Given the description of an element on the screen output the (x, y) to click on. 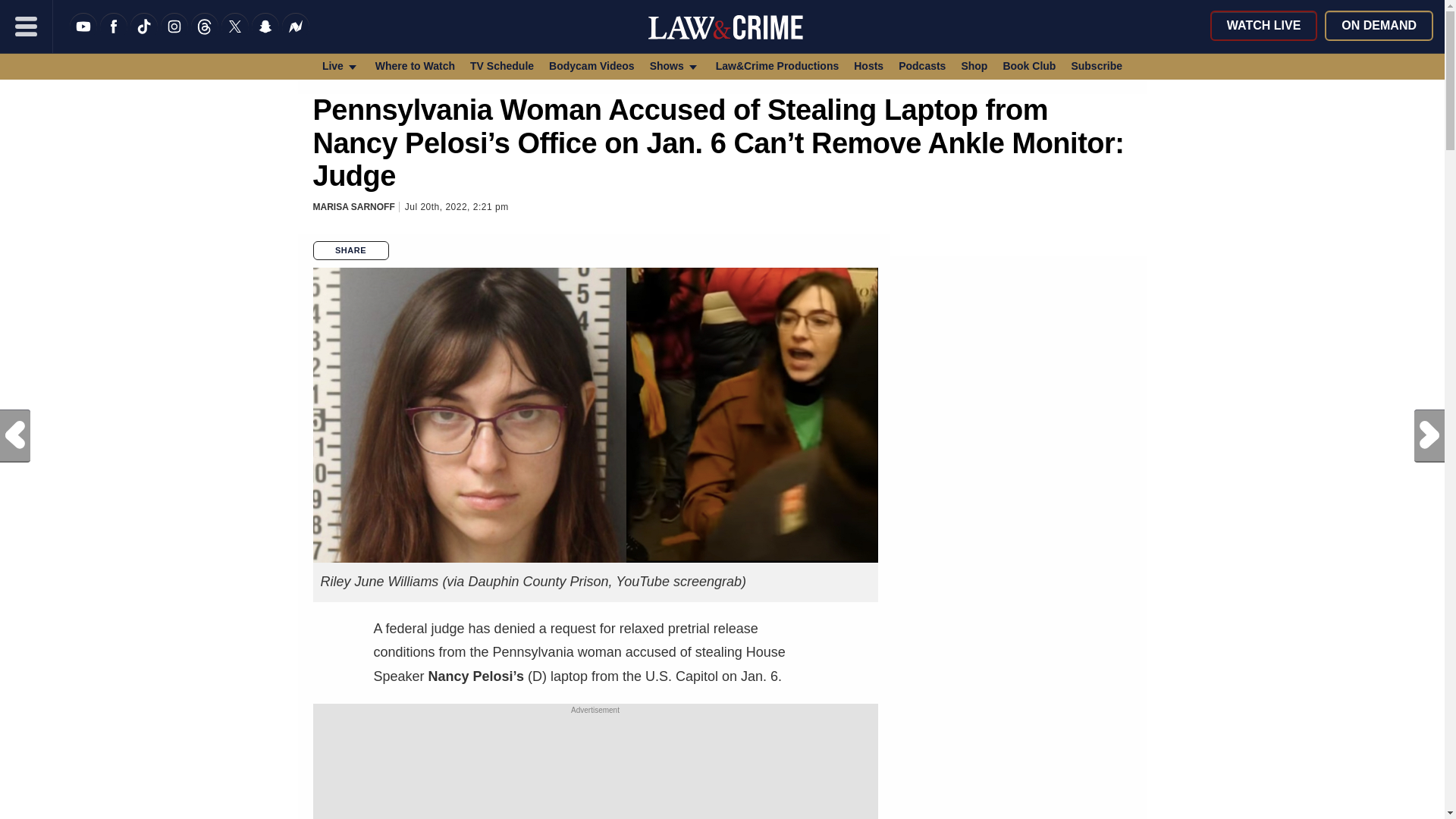
News Break (295, 35)
TikTok (144, 35)
Like us on Facebook (114, 35)
YouTube (83, 35)
Snapchat (265, 35)
Instagram (173, 35)
Threads (204, 35)
Posts by Marisa Sarnoff (353, 206)
